Given the description of an element on the screen output the (x, y) to click on. 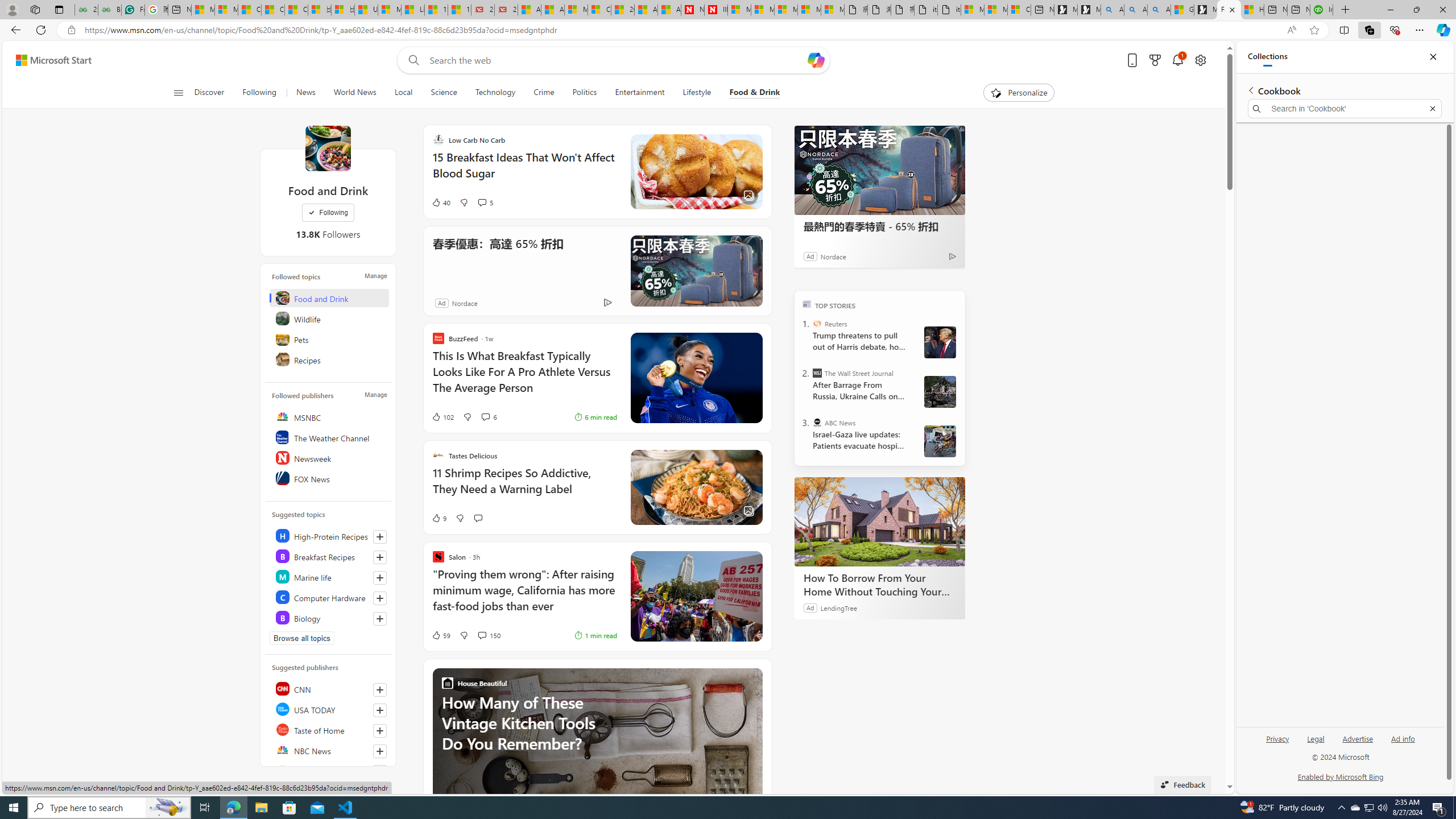
USA TODAY - MSN (365, 9)
40 Like (440, 202)
